Given the description of an element on the screen output the (x, y) to click on. 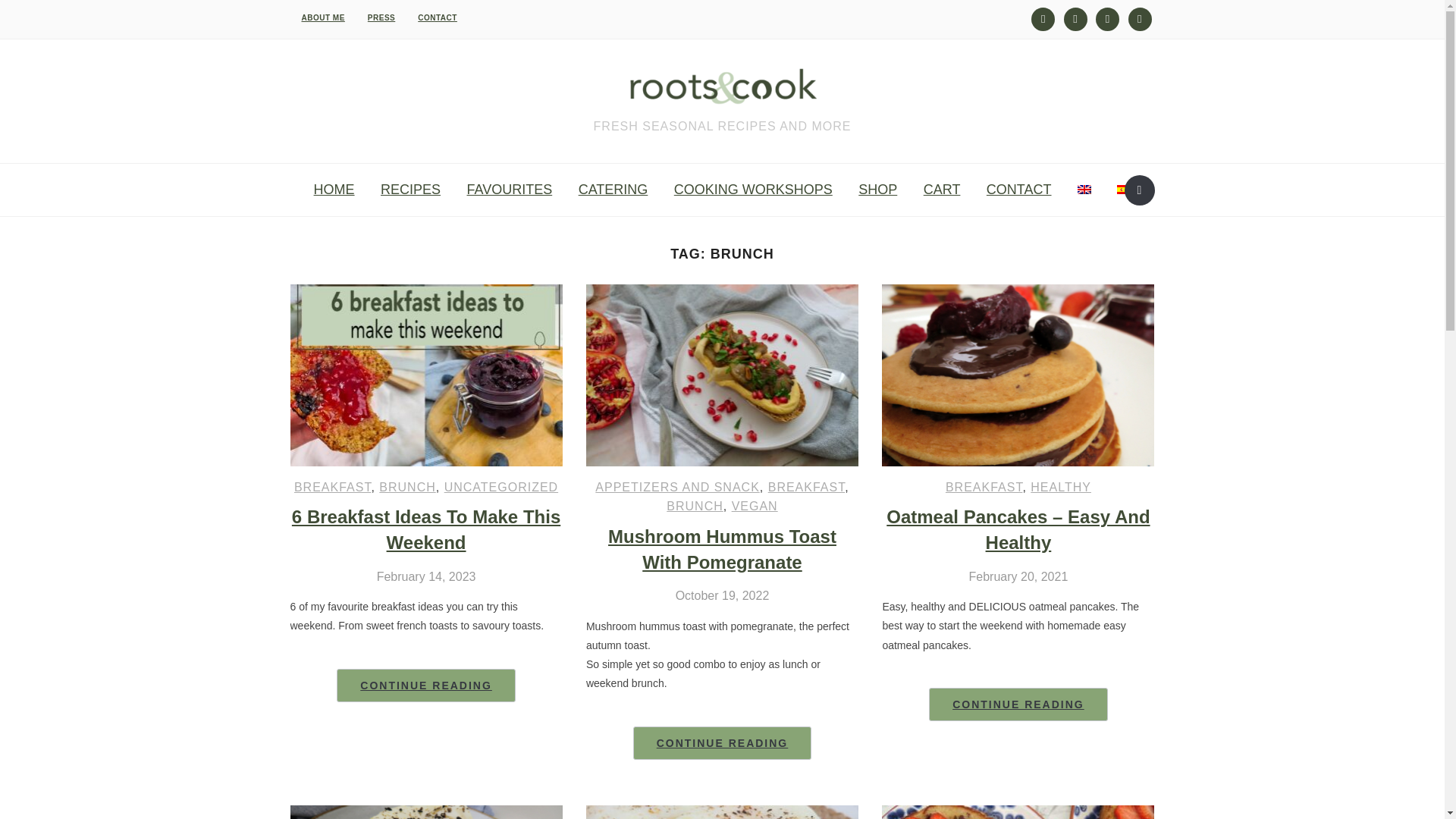
PRESS (381, 17)
6 breakfast ideas to make this weekend (425, 293)
CONTACT (437, 17)
Mushroom hummus toast with pomegranate (722, 293)
Default Label (1107, 18)
Youtube (1075, 18)
Easy French Toast (1018, 813)
Pinterest (1107, 18)
Instagram (1042, 18)
Permalink to 6 breakfast ideas to make this weekend (425, 685)
Permalink to Mushroom hummus toast with pomegranate (722, 743)
Instagram (1042, 18)
Facebook (1139, 18)
ABOUT ME (322, 17)
Facebook (1139, 18)
